Given the description of an element on the screen output the (x, y) to click on. 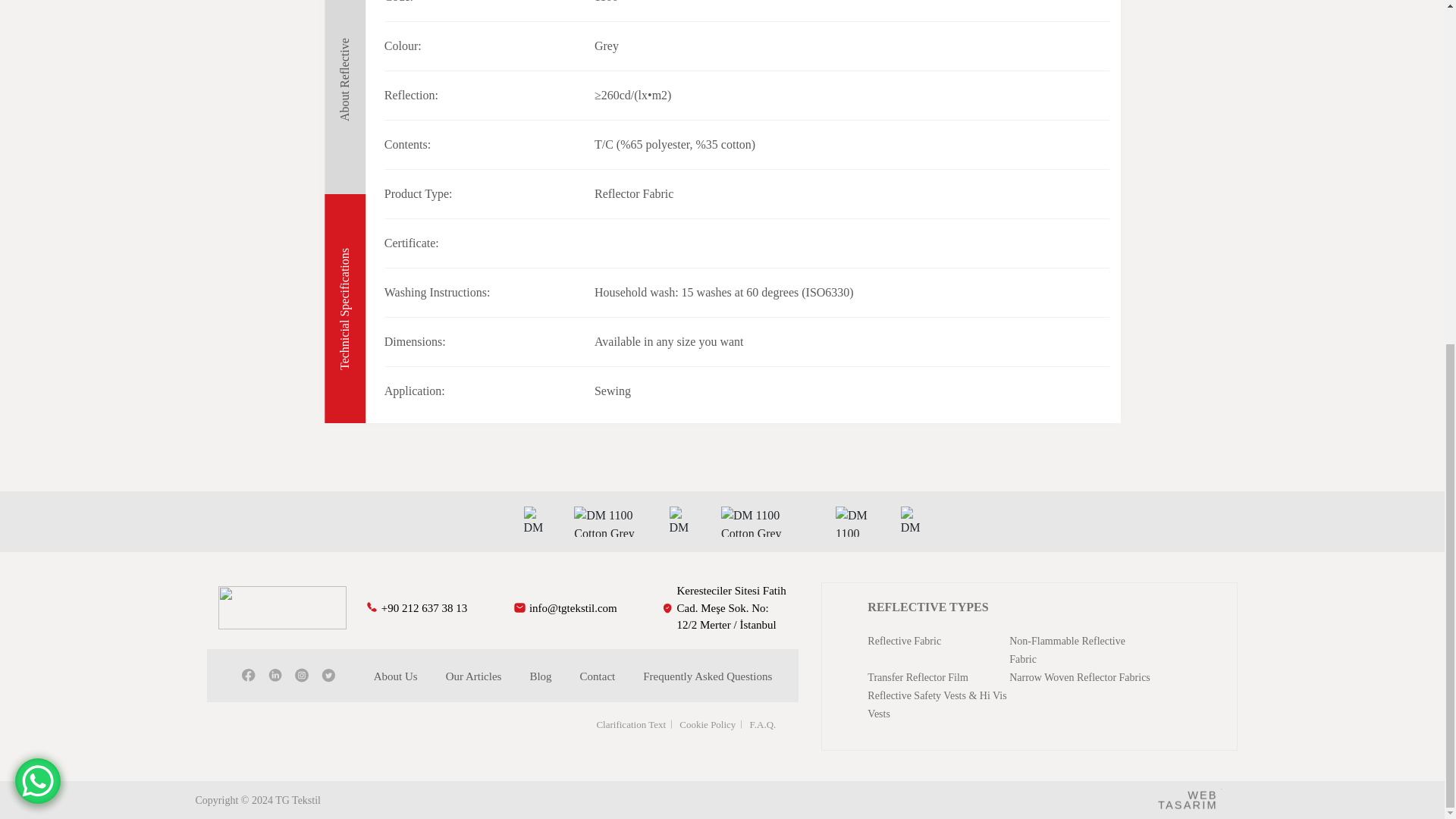
About Us (395, 676)
Our Articles (473, 676)
